Given the description of an element on the screen output the (x, y) to click on. 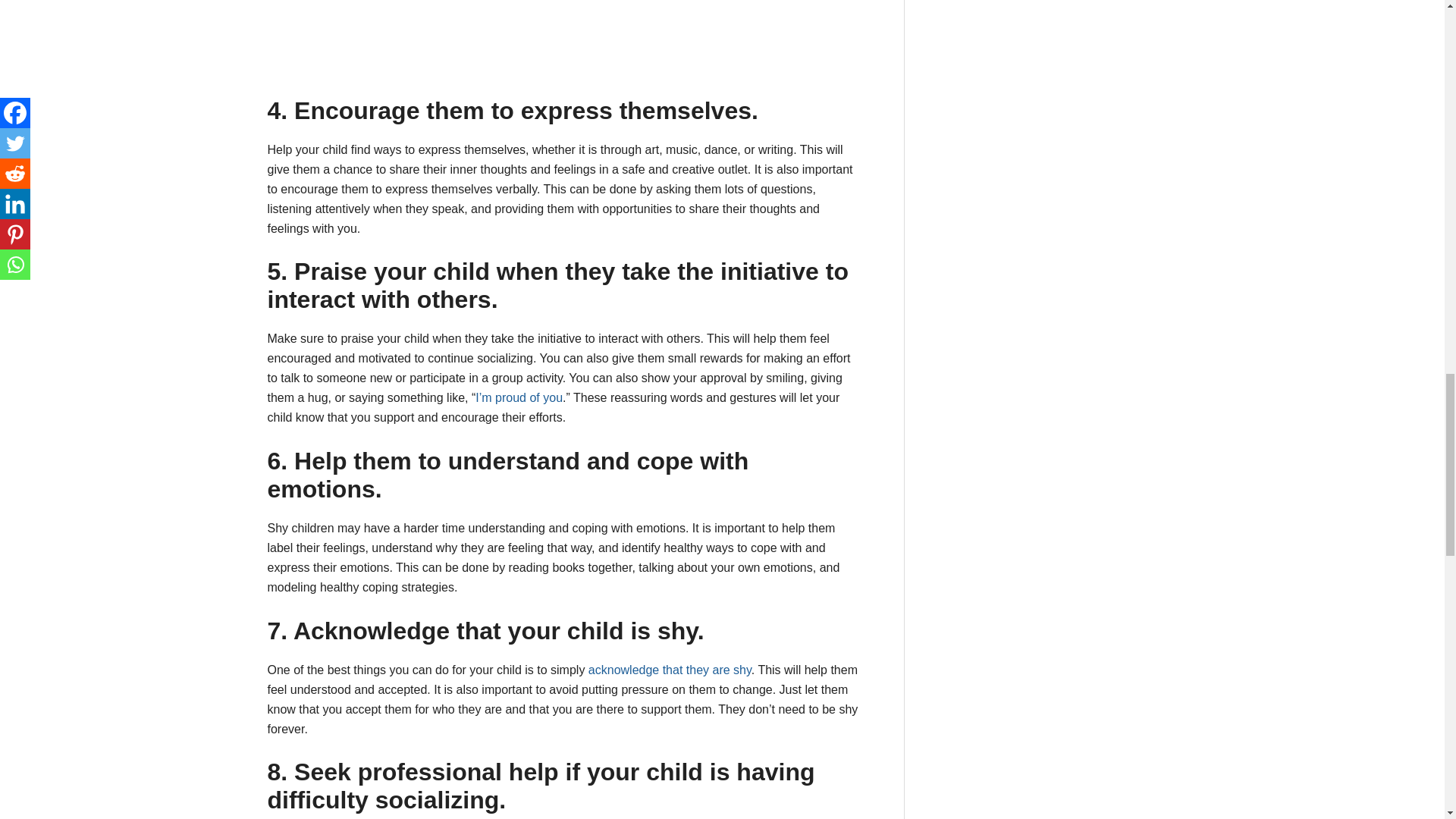
A child beating a tambourine in class (380, 38)
acknowledge that they are shy (669, 669)
